Given the description of an element on the screen output the (x, y) to click on. 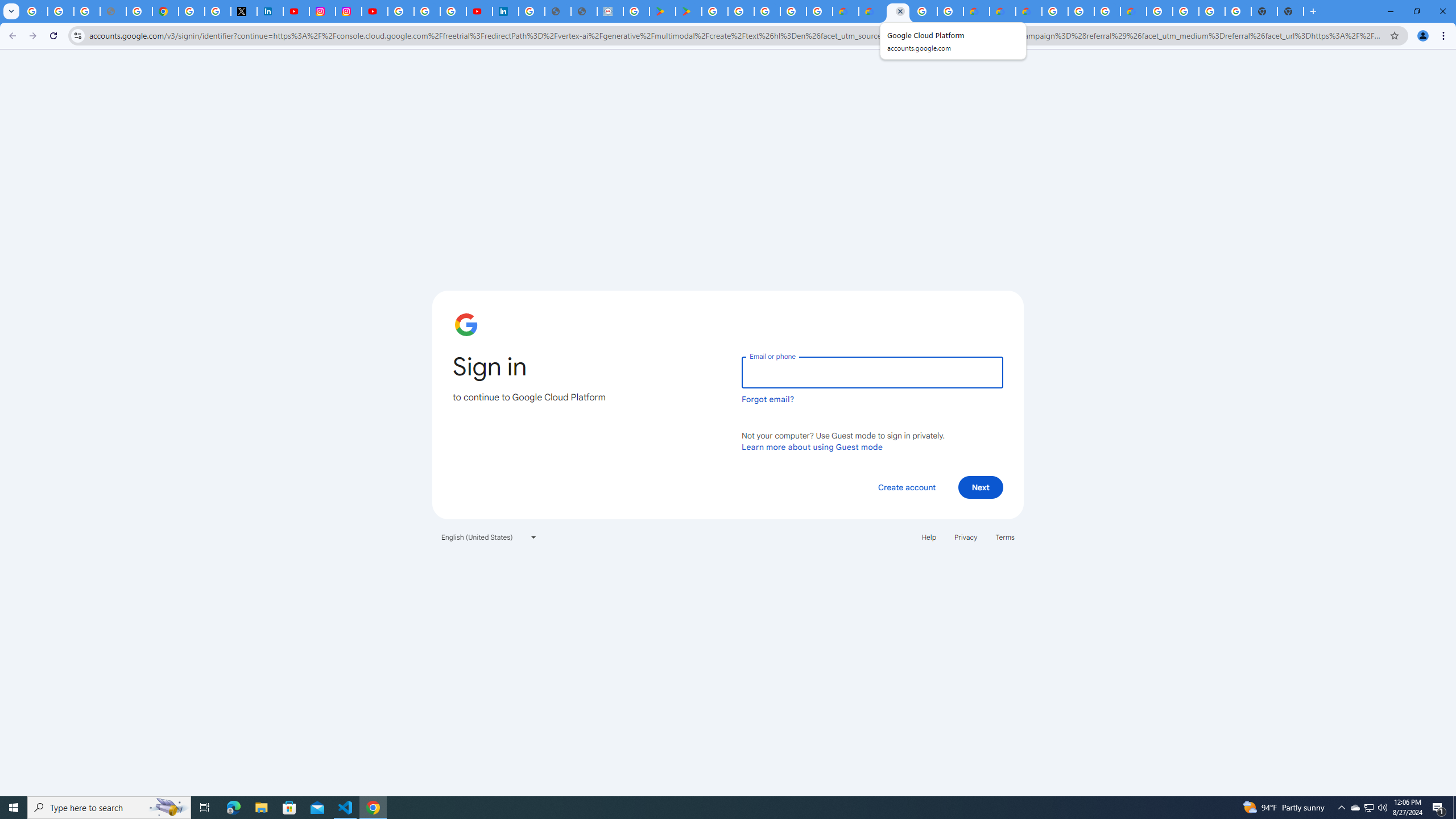
Google Cloud Service Health (1133, 11)
English (United States) (489, 536)
Customer Care | Google Cloud (845, 11)
Browse Chrome as a guest - Computer - Google Chrome Help (1080, 11)
